Given the description of an element on the screen output the (x, y) to click on. 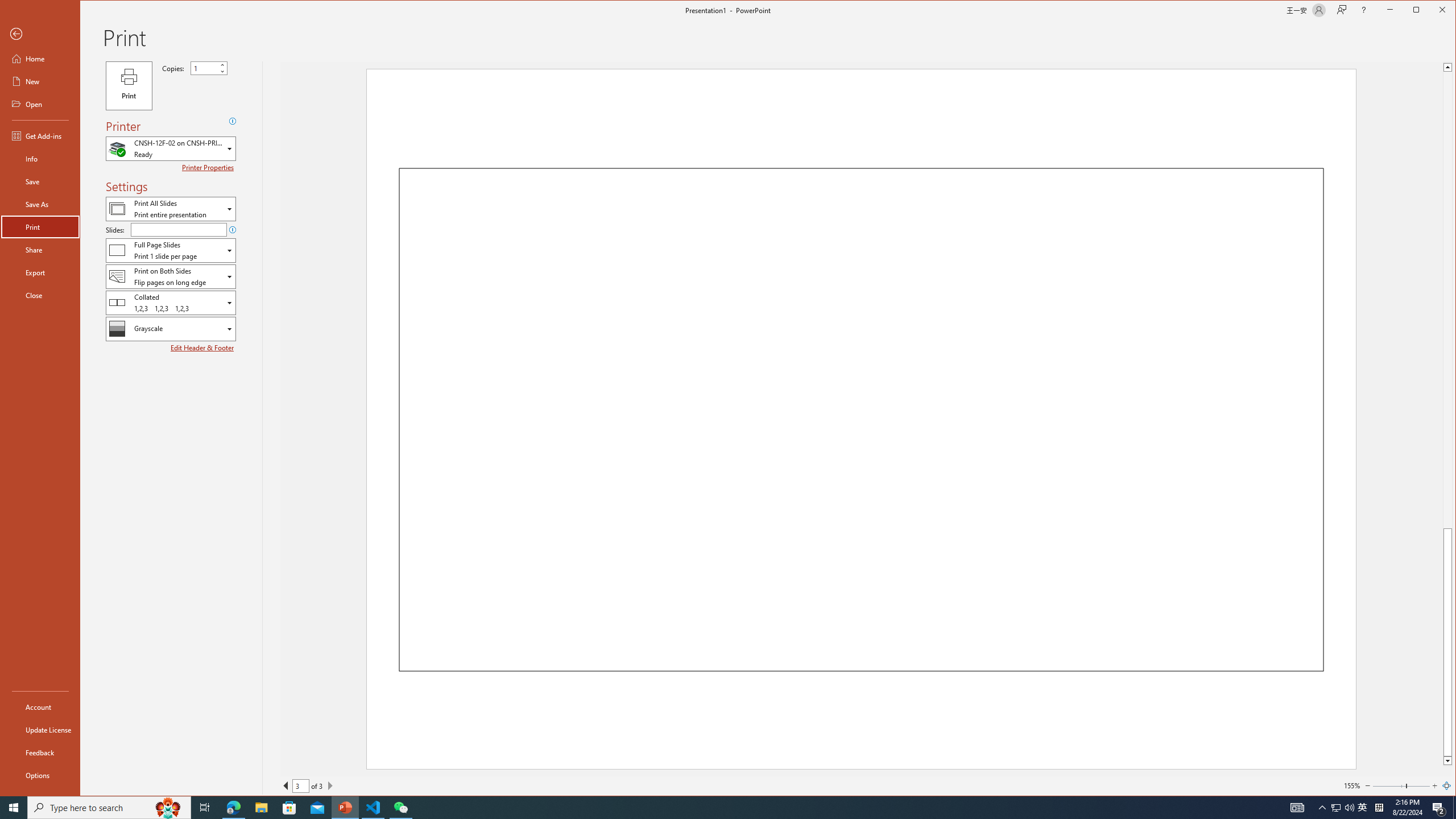
Slides and Handouts (170, 250)
Copies (203, 68)
Two-Sided Printing (170, 276)
Export (40, 272)
Zoom to Page (1446, 785)
